Given the description of an element on the screen output the (x, y) to click on. 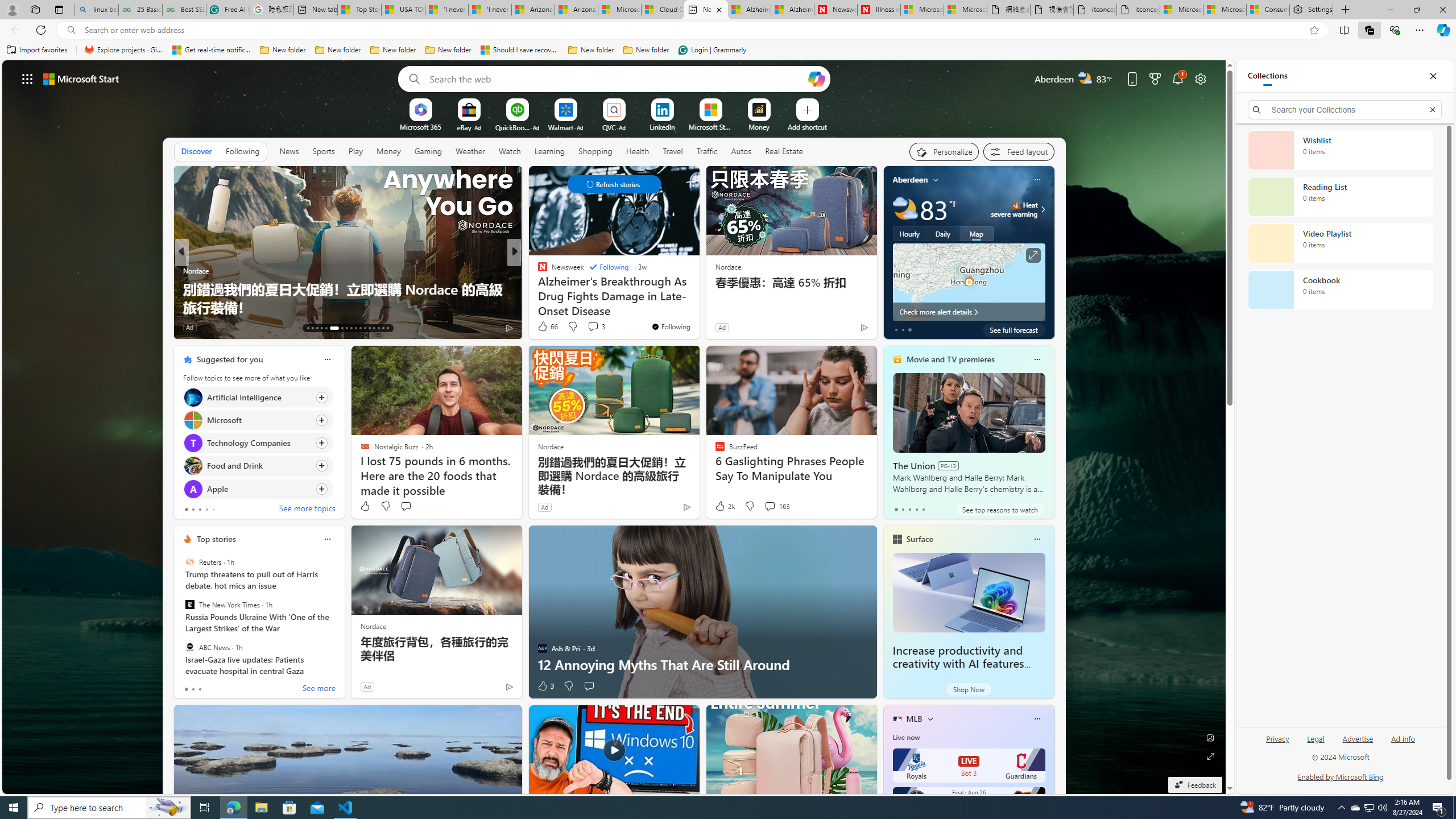
MLB (914, 718)
View comments 16 Comment (592, 327)
Shop Now (968, 689)
9 replacements for Windows features that Microsoft abandoned (697, 298)
Body Network (537, 270)
tab-2 (199, 689)
My location (936, 179)
Movie and TV premieres (949, 359)
Play (355, 151)
AutomationID: tab-17 (326, 328)
Enter your search term (617, 78)
